Given the description of an element on the screen output the (x, y) to click on. 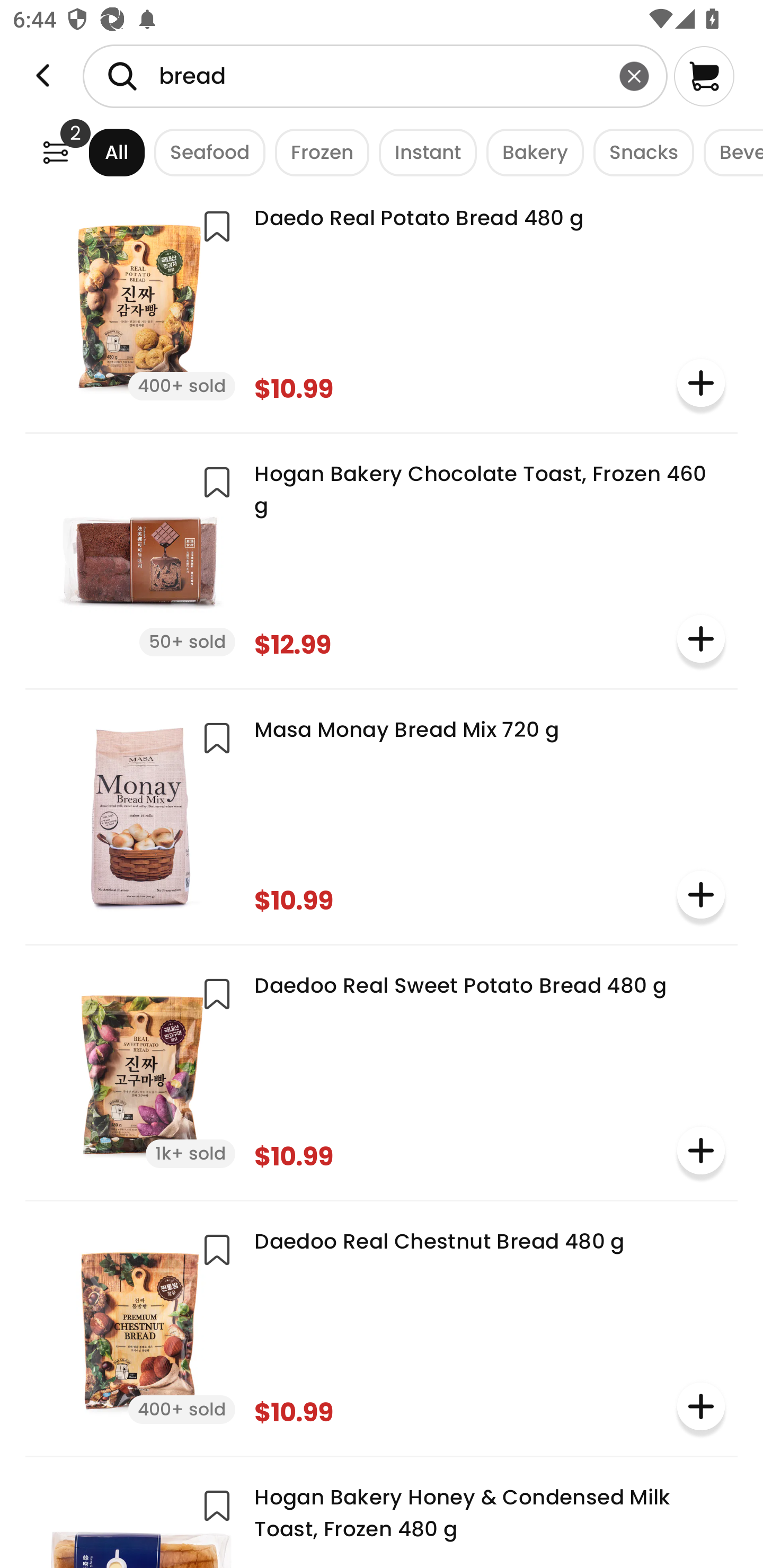
bread (374, 75)
Weee! (42, 76)
Weee! (55, 151)
All (99, 151)
Seafood (204, 151)
Frozen (317, 151)
Instant (422, 151)
Bakery (529, 151)
Snacks (638, 151)
Daedo Real Potato Bread 480 g 400+ sold $10.99 (381, 304)
Masa Monay Bread Mix 720 g $10.99 (381, 815)
Daedoo Real Chestnut Bread 480 g 400+ sold $10.99 (381, 1326)
